Given the description of an element on the screen output the (x, y) to click on. 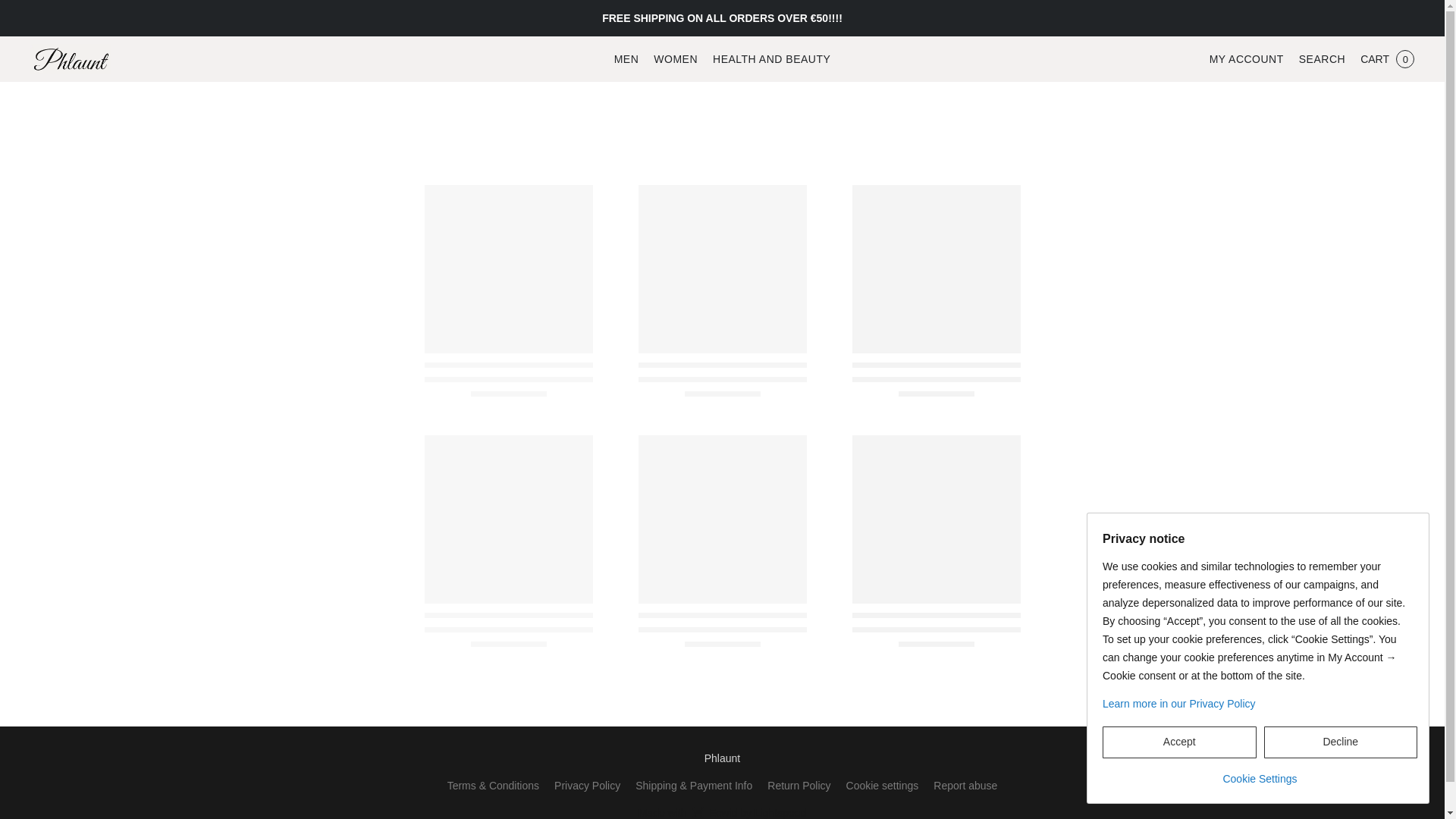
Learn more in our Privacy Policy (1259, 703)
MY ACCOUNT (1246, 59)
WOMEN (675, 59)
SEARCH (1321, 59)
Privacy Policy (587, 785)
Decline (1339, 742)
CART (1387, 59)
HEALTH AND BEAUTY (766, 59)
Accept (1179, 742)
